Given the description of an element on the screen output the (x, y) to click on. 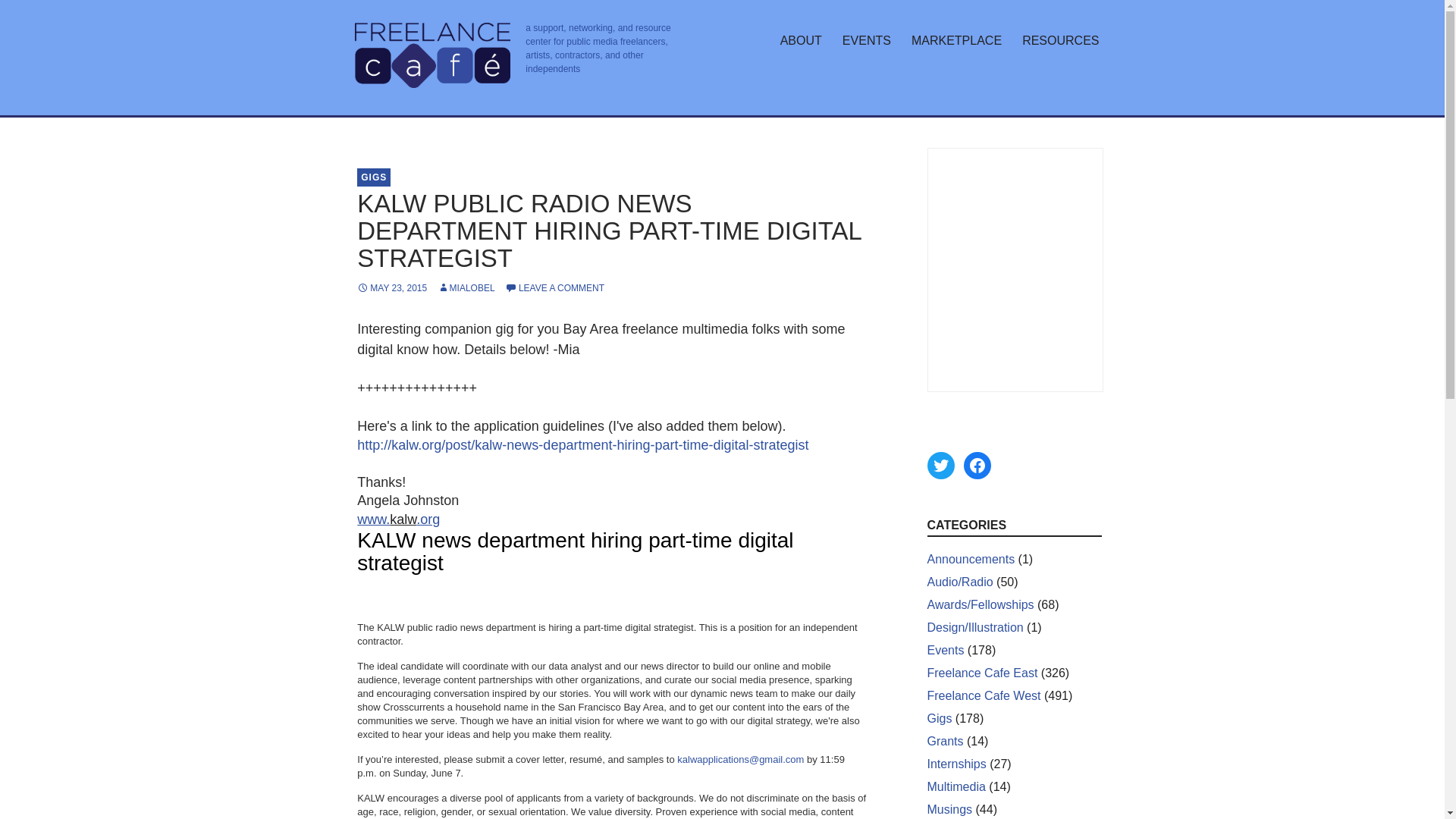
Announcements (970, 558)
LEAVE A COMMENT (554, 287)
Freelance Cafe West (983, 695)
Twitter (939, 465)
Facebook (976, 465)
RESOURCES (1060, 40)
EVENTS (865, 40)
MIALOBEL (466, 287)
Gigs (939, 717)
Multimedia (955, 786)
